Given the description of an element on the screen output the (x, y) to click on. 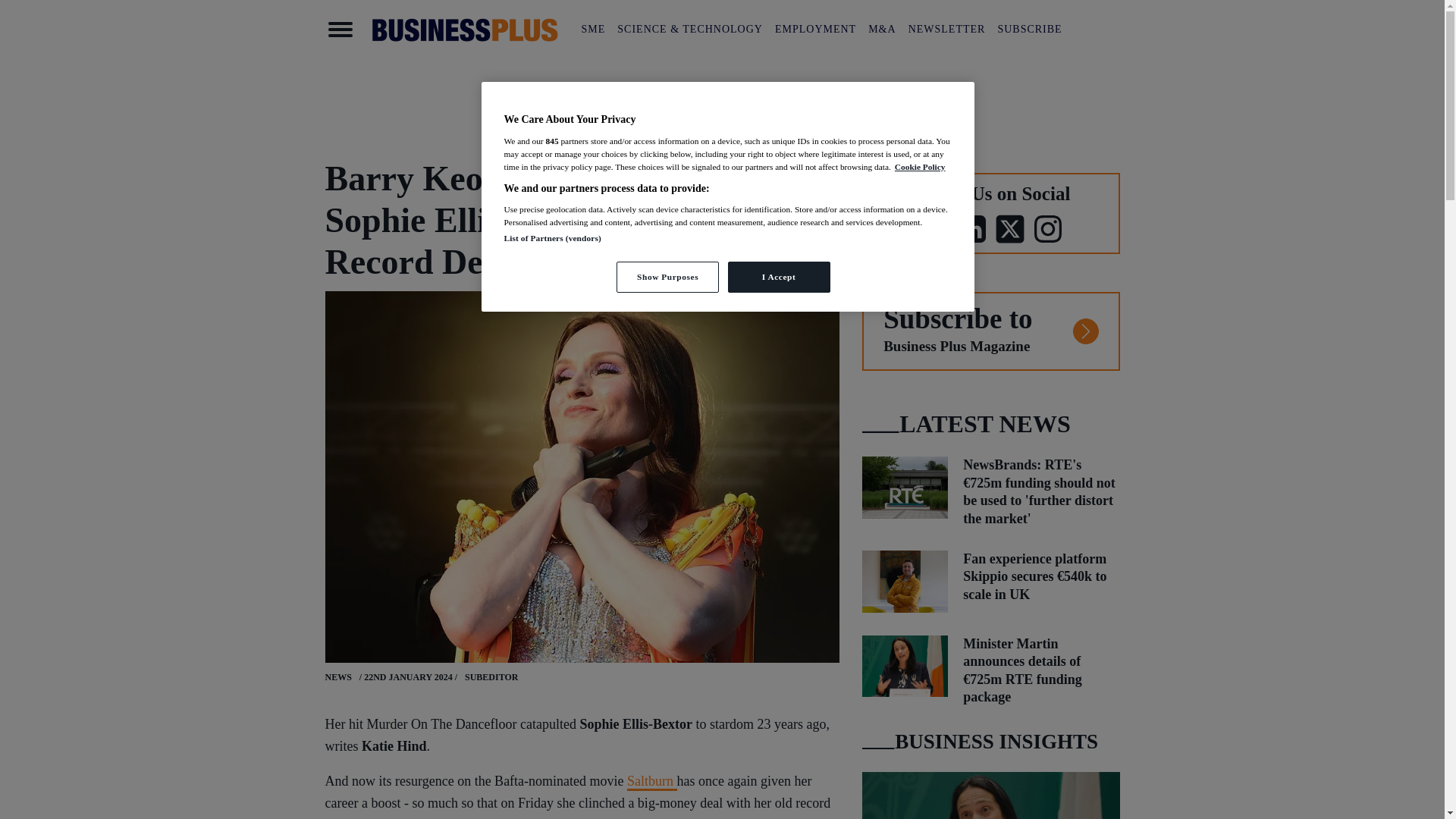
SUBEDITOR (491, 677)
Saltburn (652, 782)
EMPLOYMENT (814, 29)
NEWS (337, 676)
SUBSCRIBE (1029, 29)
NEWSLETTER (946, 29)
